Given the description of an element on the screen output the (x, y) to click on. 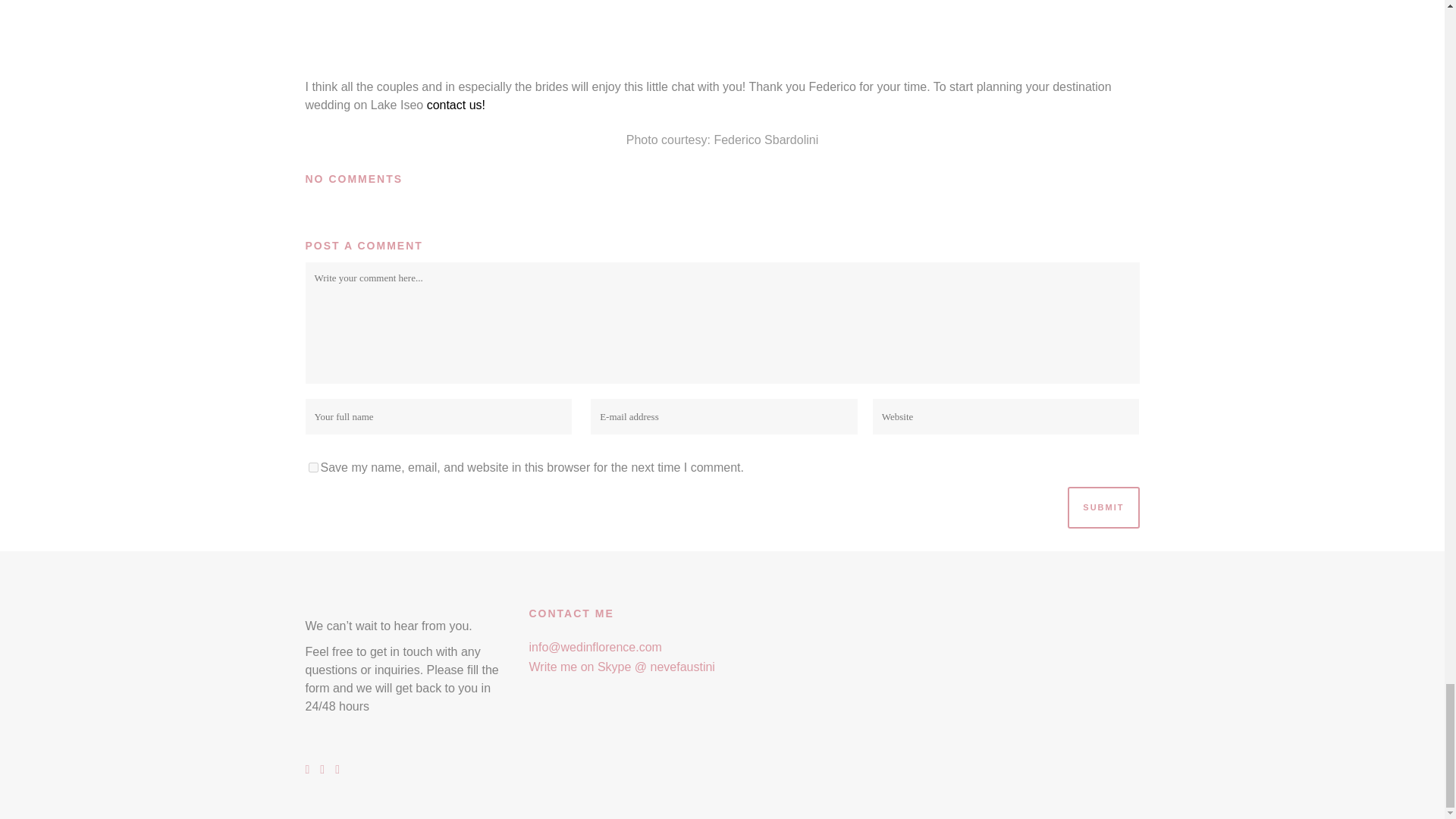
contact us! (455, 104)
Contact us (455, 104)
yes (312, 467)
Federico Sbardolini (765, 139)
Submit (1102, 507)
Submit (1102, 507)
